Given the description of an element on the screen output the (x, y) to click on. 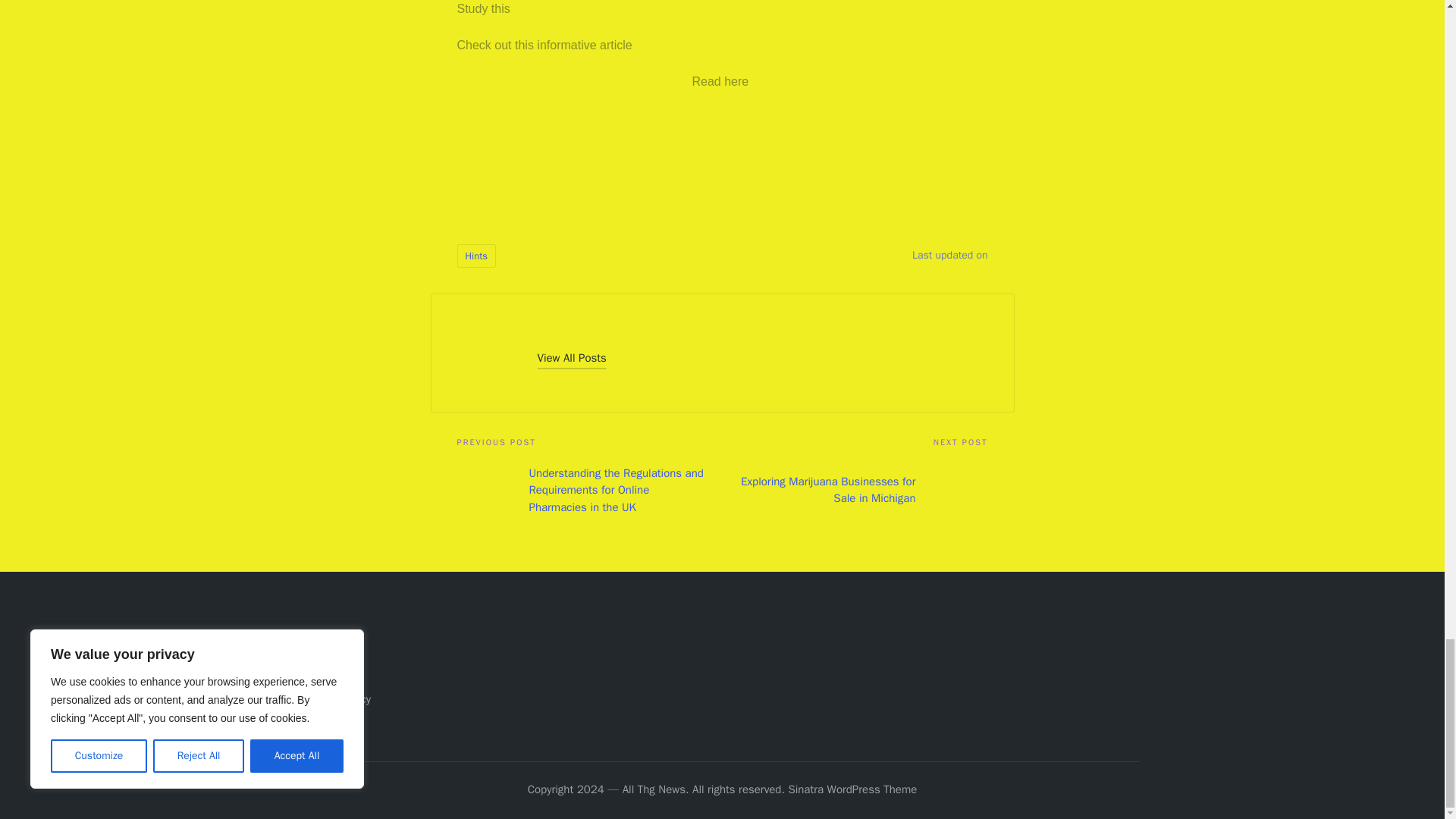
Privacy Policy (337, 698)
View All Posts (571, 358)
Hints (476, 255)
Sinatra WordPress Theme (852, 790)
Read here (719, 81)
Exploring Marijuana Businesses for Sale in Michigan (854, 489)
Contact (323, 674)
About (318, 649)
Study this (483, 8)
Check out this informative article (544, 44)
